Given the description of an element on the screen output the (x, y) to click on. 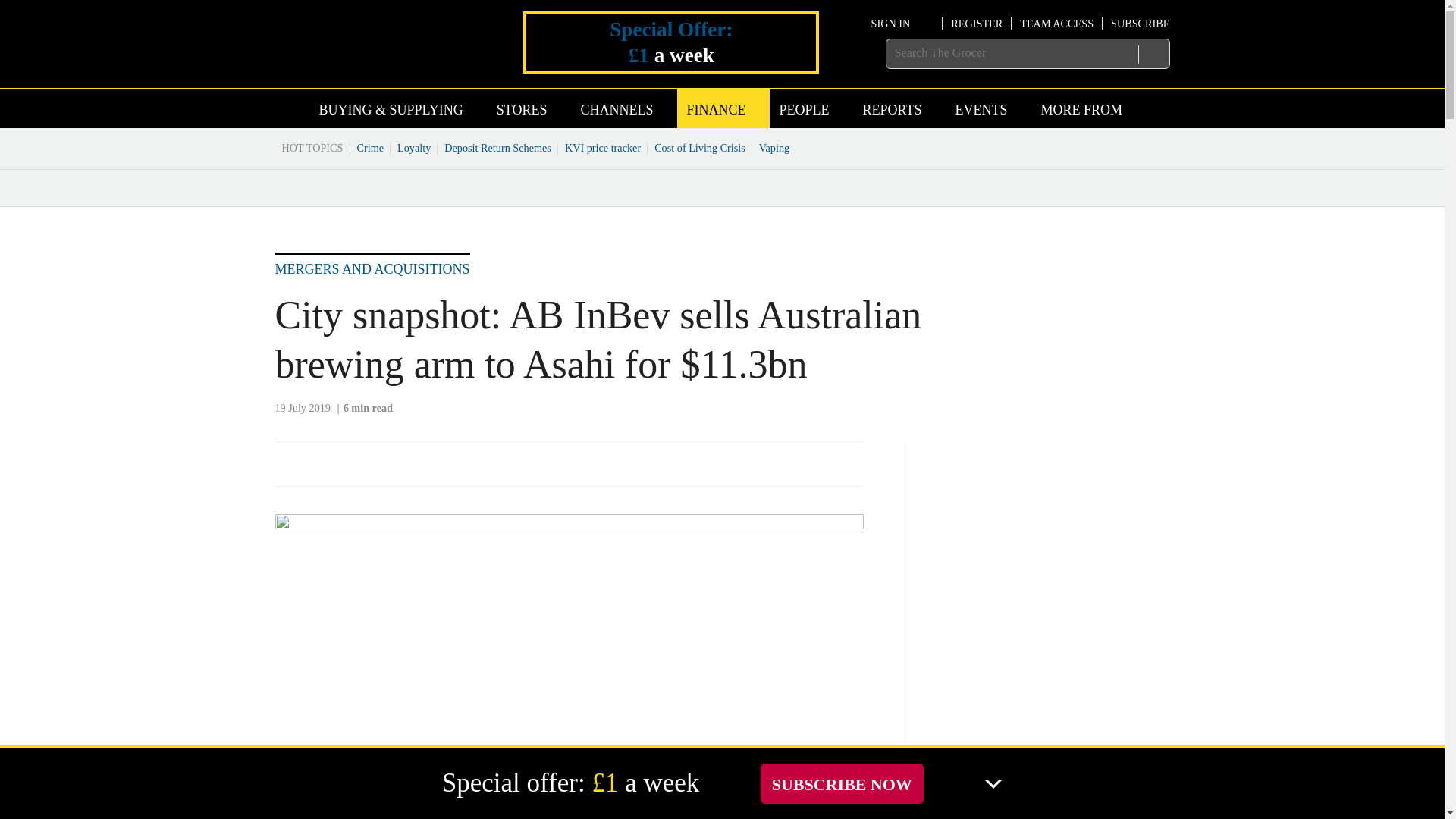
Site name (363, 65)
No comments (840, 472)
Share this on Linked in (352, 462)
REGISTER (976, 23)
Crime (370, 147)
Loyalty (414, 147)
TEAM ACCESS (1056, 23)
Cost of Living Crisis (699, 147)
KVI price tracker (602, 147)
SIGN IN (902, 23)
SUBSCRIBE NOW (841, 783)
Share this on Twitter (320, 462)
Vaping (774, 147)
Email this article (386, 462)
Share this on Facebook (288, 462)
